Given the description of an element on the screen output the (x, y) to click on. 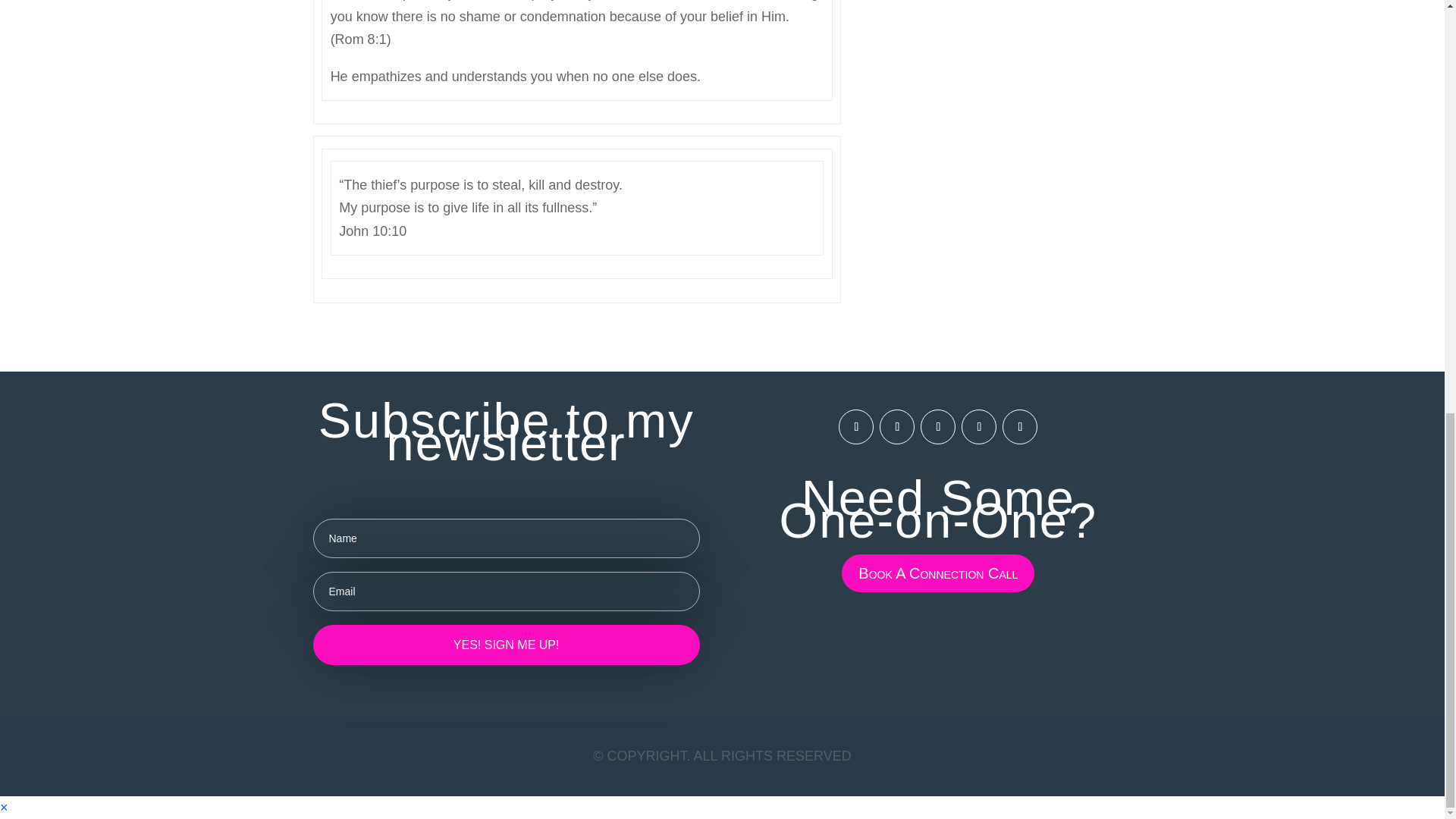
Follow on Twitter (977, 426)
YES! SIGN ME UP! (505, 644)
Follow on Youtube (1019, 426)
Follow on LinkedIn (937, 426)
Follow on Facebook (855, 426)
Follow on Instagram (896, 426)
